Given the description of an element on the screen output the (x, y) to click on. 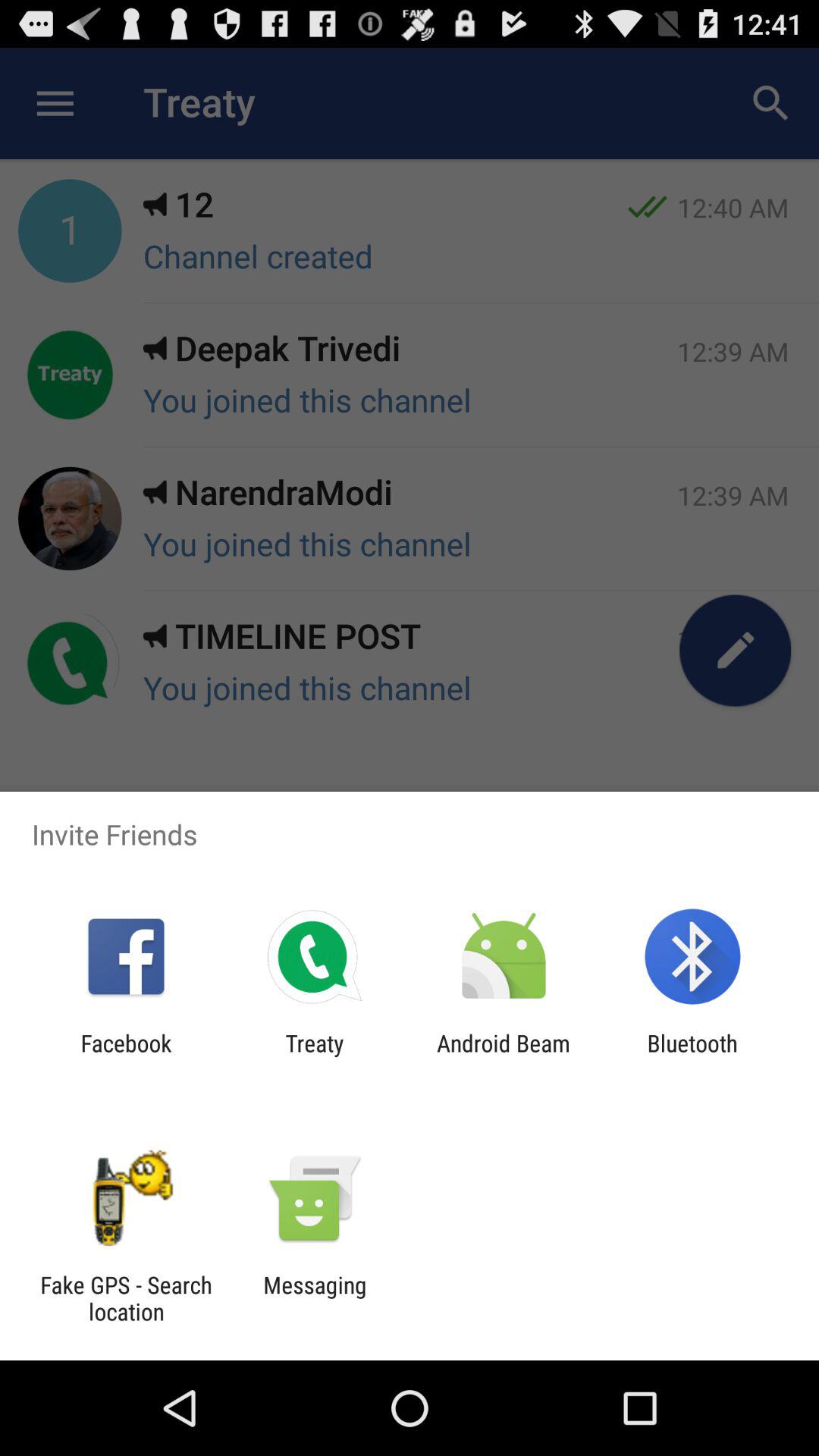
scroll to the treaty (314, 1056)
